Given the description of an element on the screen output the (x, y) to click on. 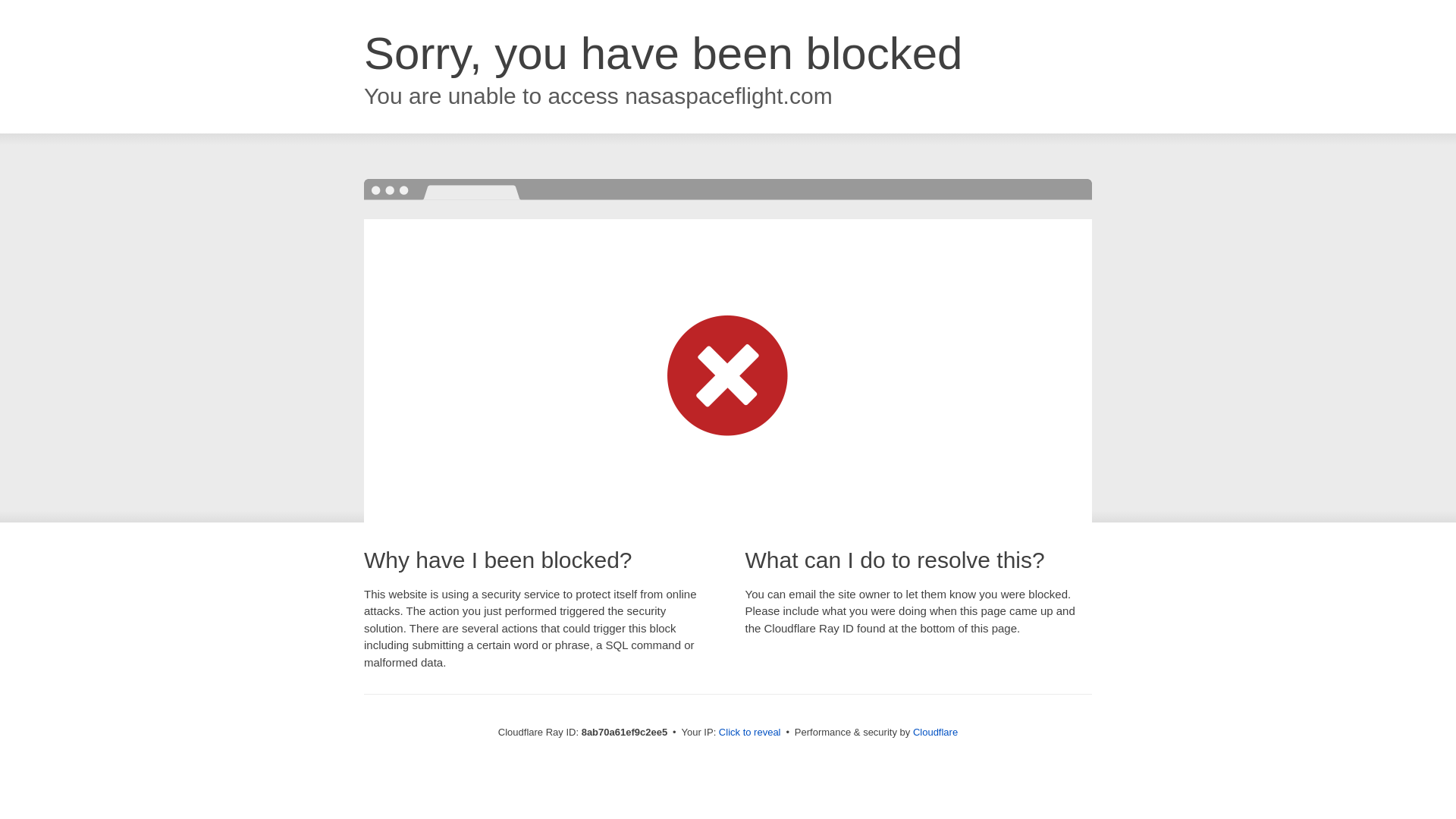
Cloudflare (935, 731)
Click to reveal (749, 732)
